Given the description of an element on the screen output the (x, y) to click on. 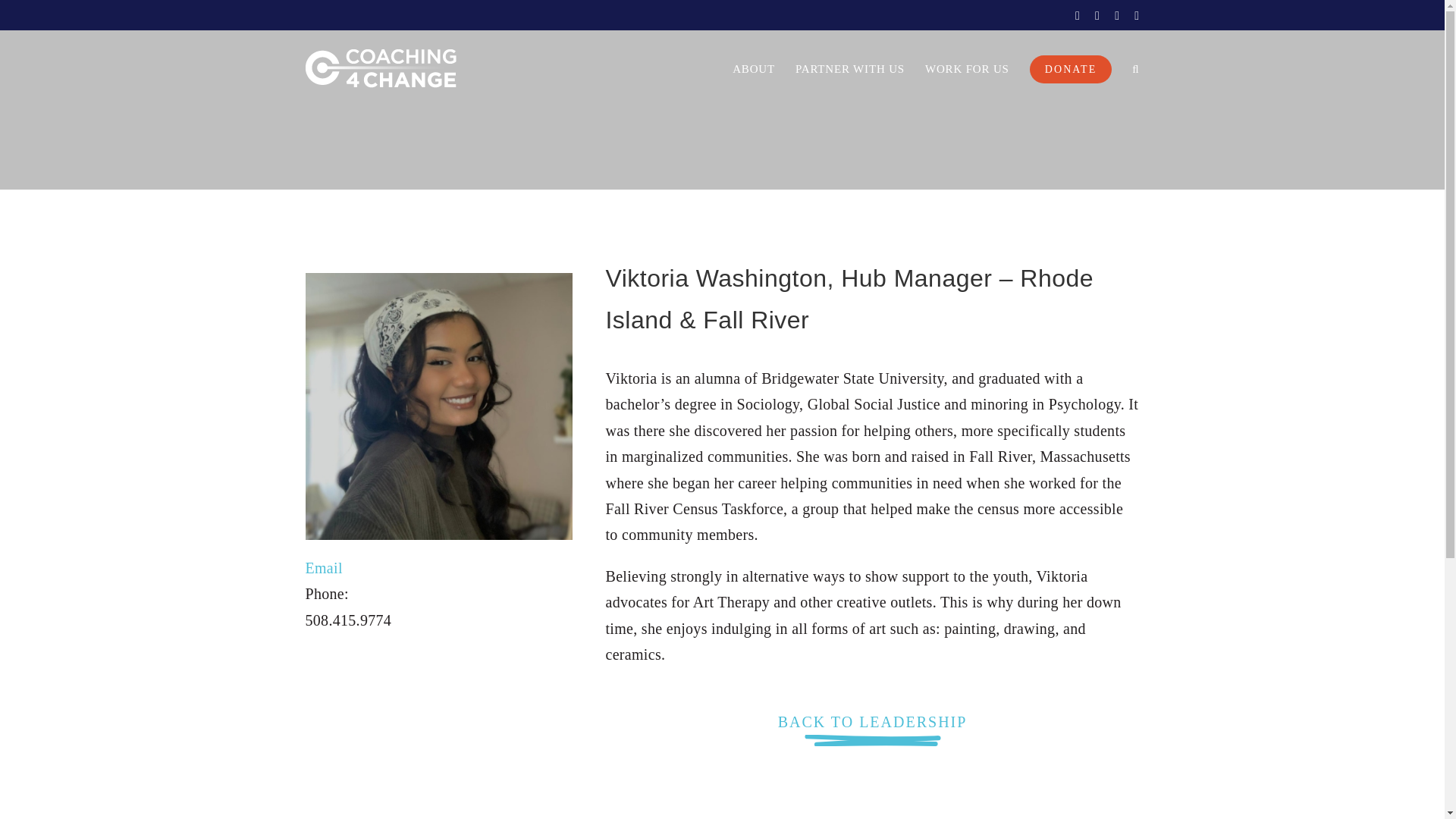
BACK TO LEADERSHIP (871, 735)
DONATE (1070, 68)
WORK FOR US (966, 68)
Viktoria-Washington (438, 405)
PARTNER WITH US (849, 68)
Email (323, 567)
